Given the description of an element on the screen output the (x, y) to click on. 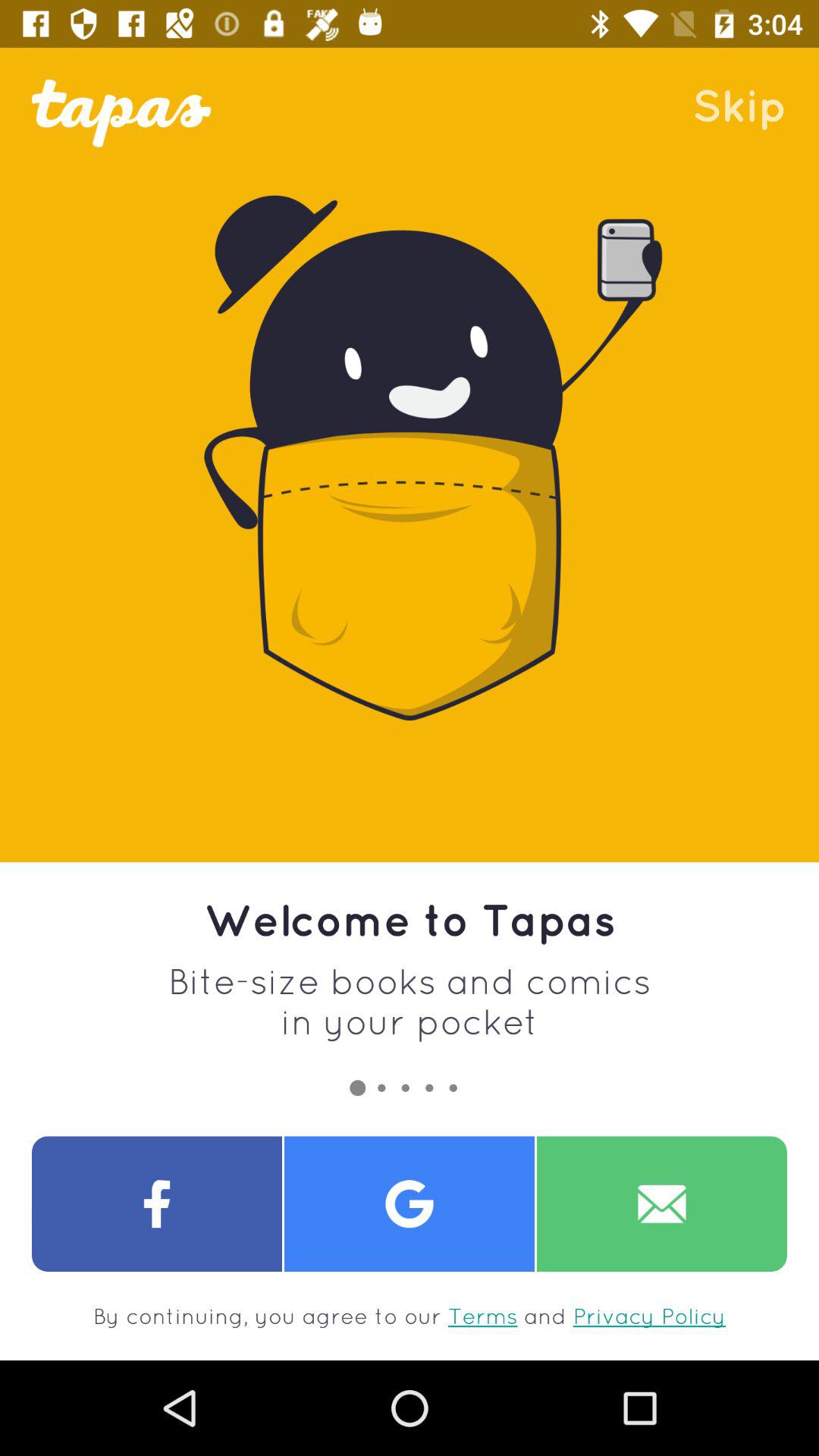
open item at the top right corner (739, 104)
